Given the description of an element on the screen output the (x, y) to click on. 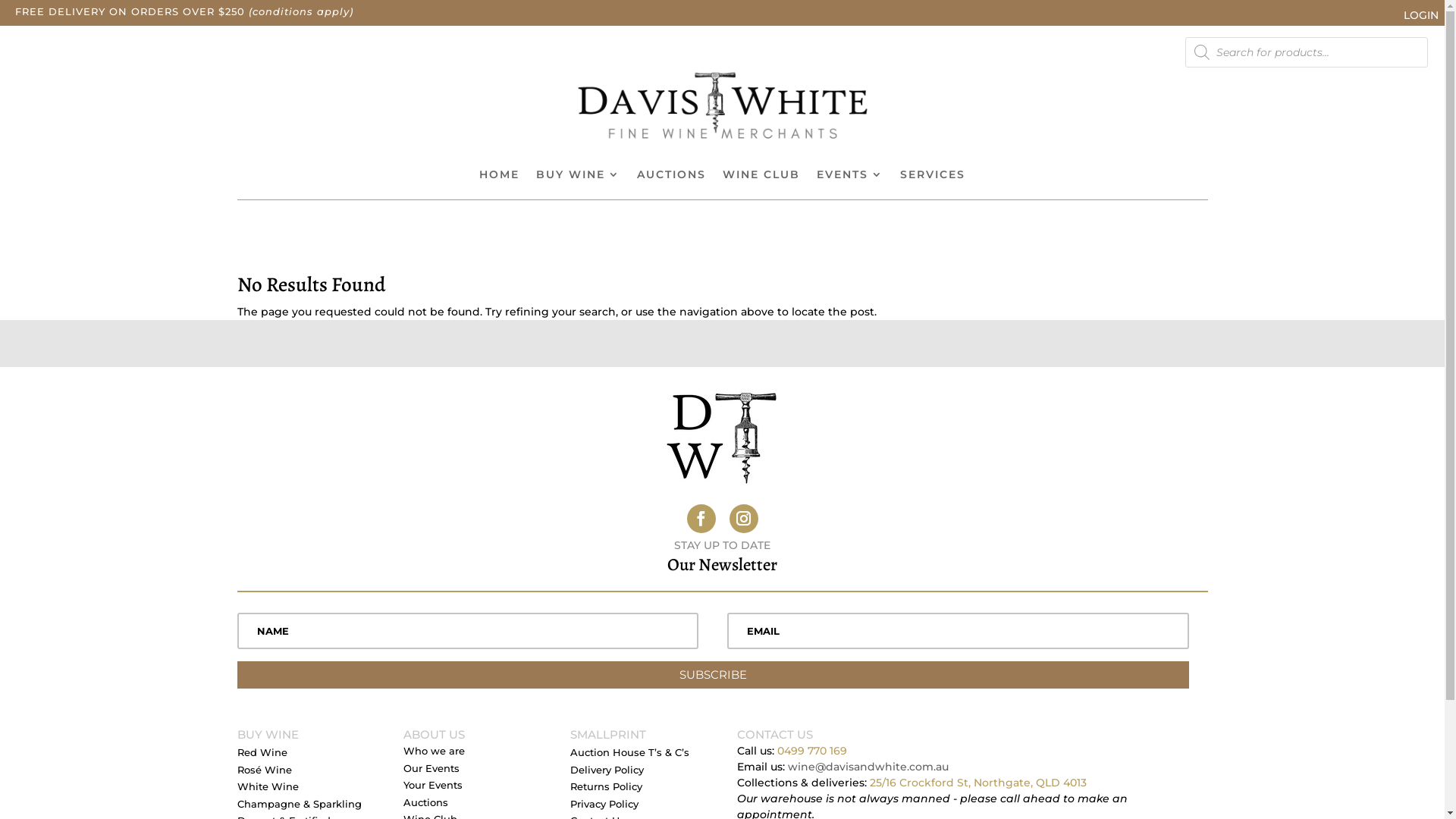
Follow on Facebook Element type: hover (701, 518)
Follow on Instagram Element type: hover (743, 518)
SERVICES Element type: text (932, 177)
D&W Square Small Element type: hover (721, 436)
Auctions Element type: text (425, 805)
Delivery Policy Element type: text (606, 772)
Red Wine Element type: text (261, 755)
wine@davisandwhite.com.au Element type: text (867, 766)
BUY WINE Element type: text (578, 177)
Privacy Policy Element type: text (604, 806)
Our Events Element type: text (431, 771)
WINE CLUB Element type: text (761, 177)
LOGIN Element type: text (1420, 15)
SUBSCRIBE Element type: text (712, 675)
White Wine Element type: text (267, 789)
Returns Policy Element type: text (606, 789)
AUCTIONS Element type: text (671, 177)
Your Events Element type: text (432, 787)
EVENTS Element type: text (849, 177)
Davis-White-Logo-with-tag-400 Element type: hover (721, 105)
Champagne & Sparkling Element type: text (298, 806)
Who we are Element type: text (433, 753)
HOME Element type: text (499, 177)
